Given the description of an element on the screen output the (x, y) to click on. 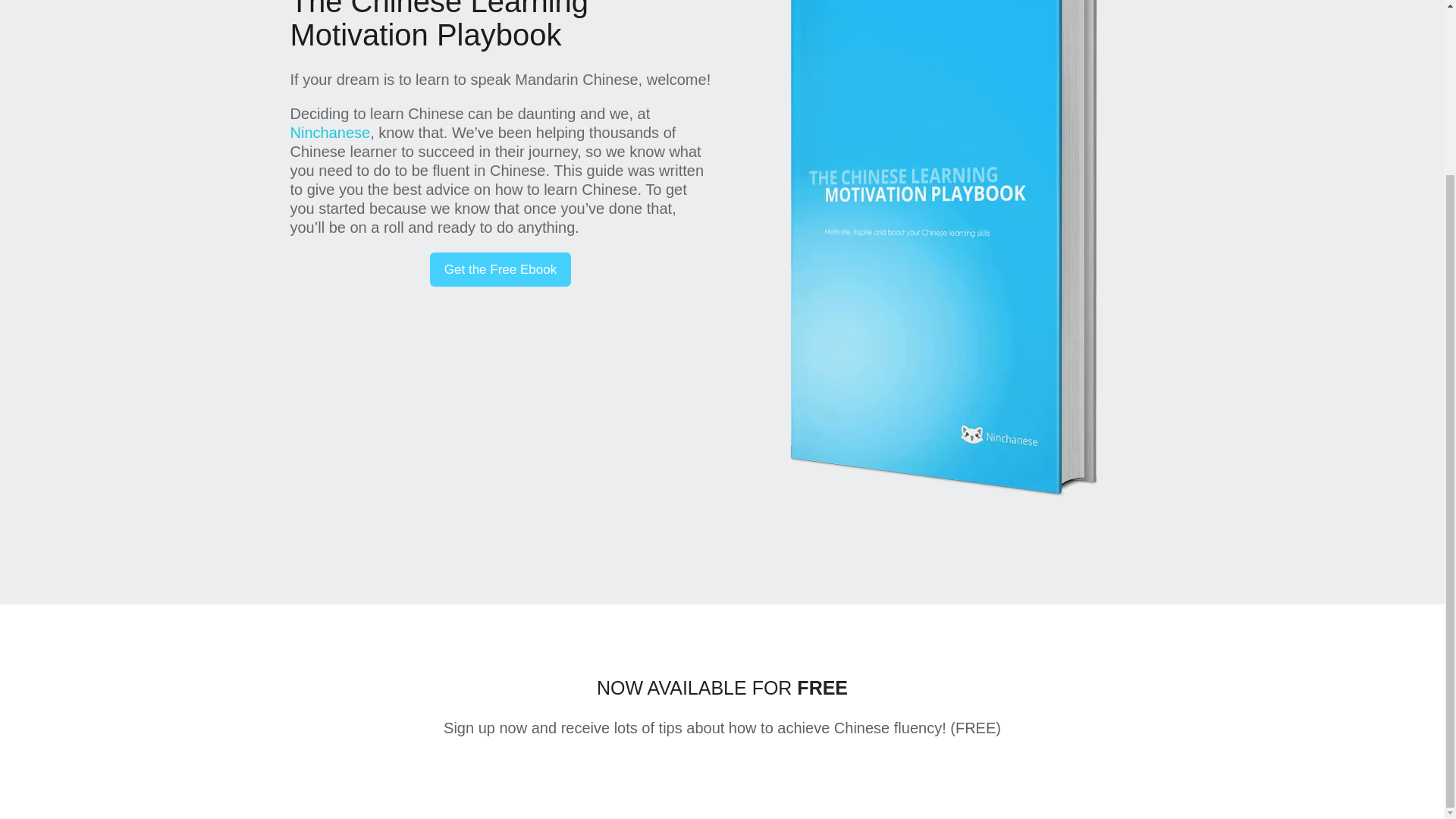
Ninchanese (329, 132)
Get the Free Ebook (499, 269)
